Given the description of an element on the screen output the (x, y) to click on. 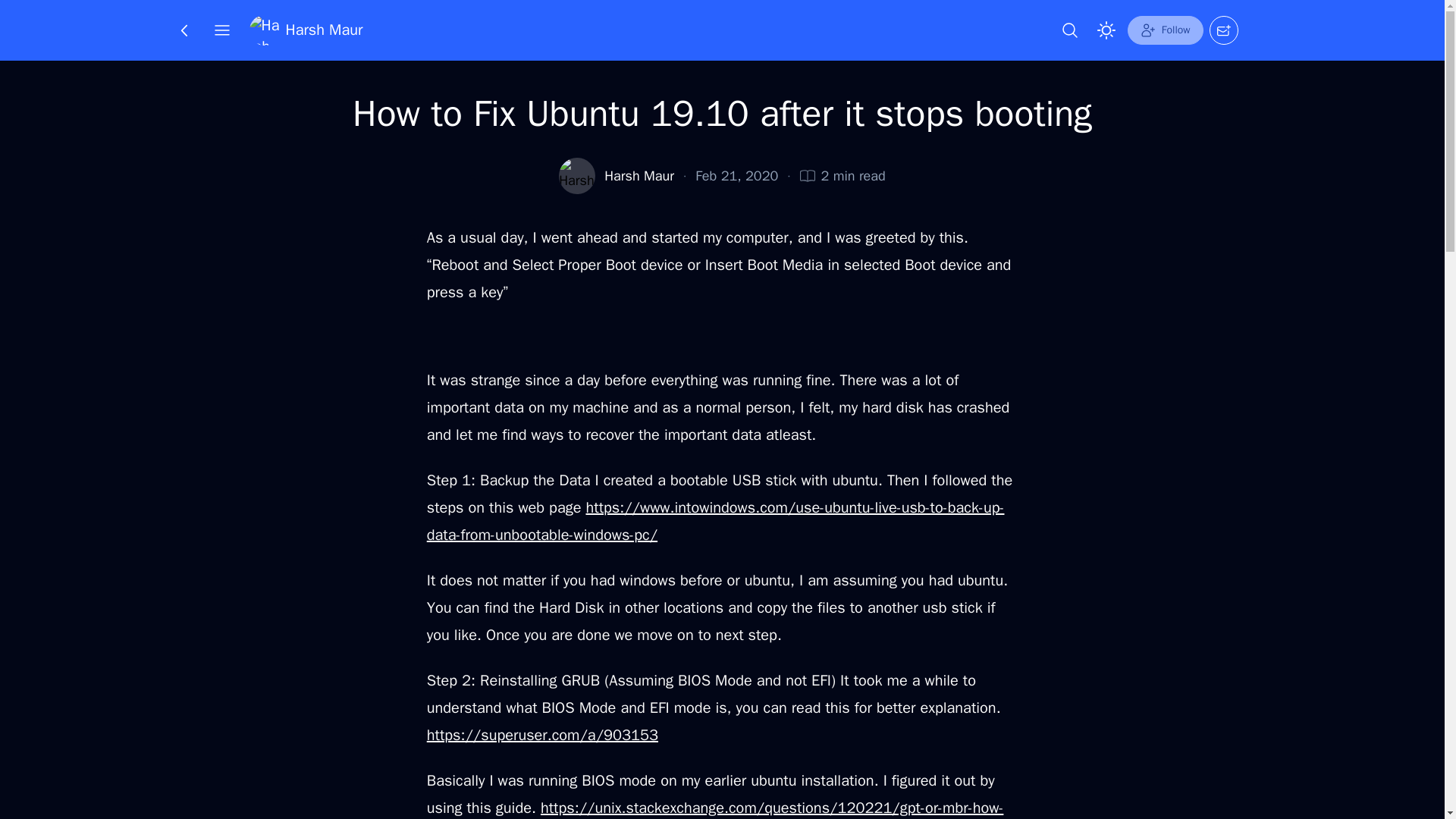
Follow (1165, 30)
Harsh Maur (639, 175)
Feb 21, 2020 (736, 175)
Harsh Maur (305, 30)
